Given the description of an element on the screen output the (x, y) to click on. 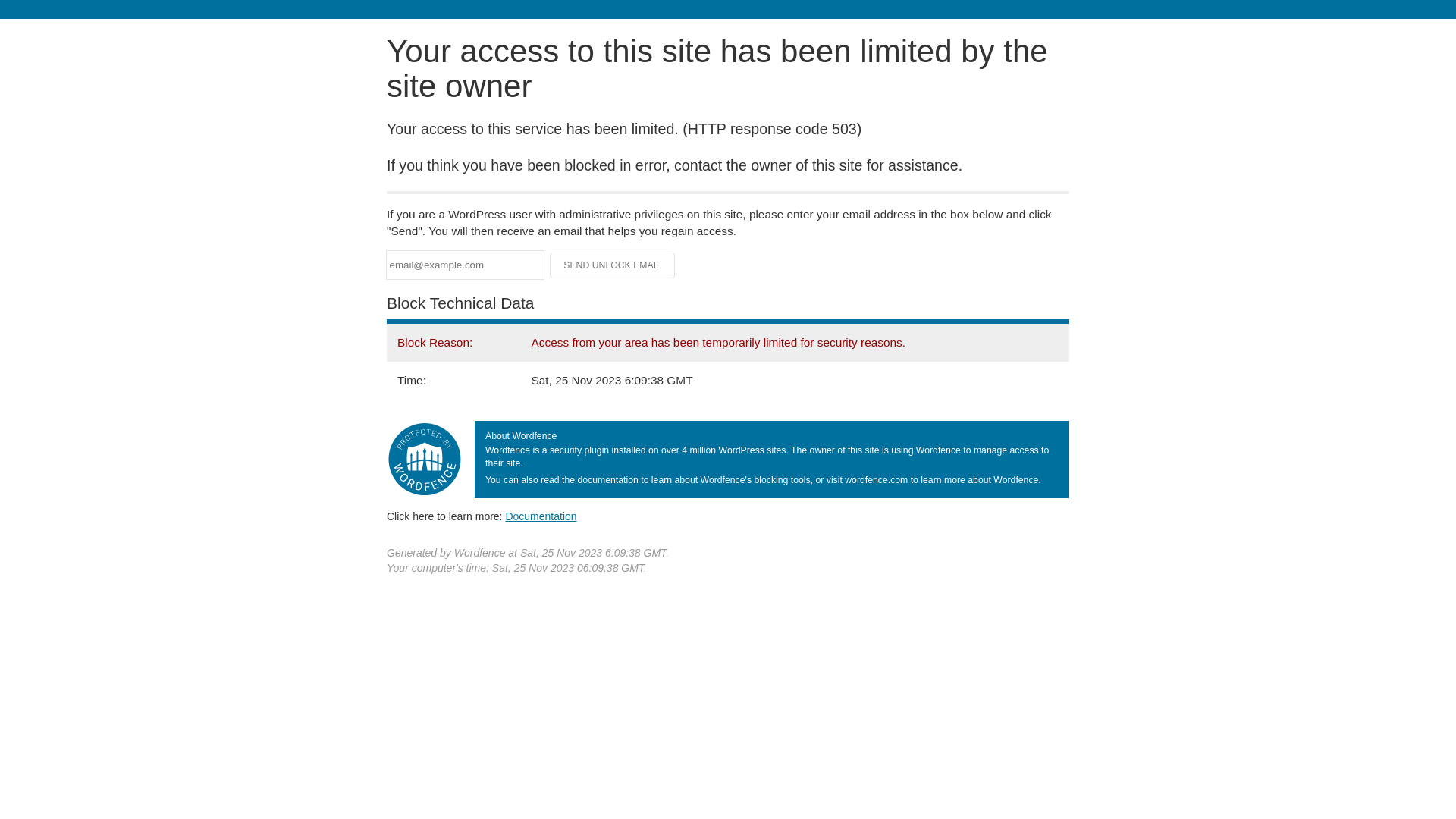
Documentation Element type: text (540, 516)
Send Unlock Email Element type: text (612, 265)
